Given the description of an element on the screen output the (x, y) to click on. 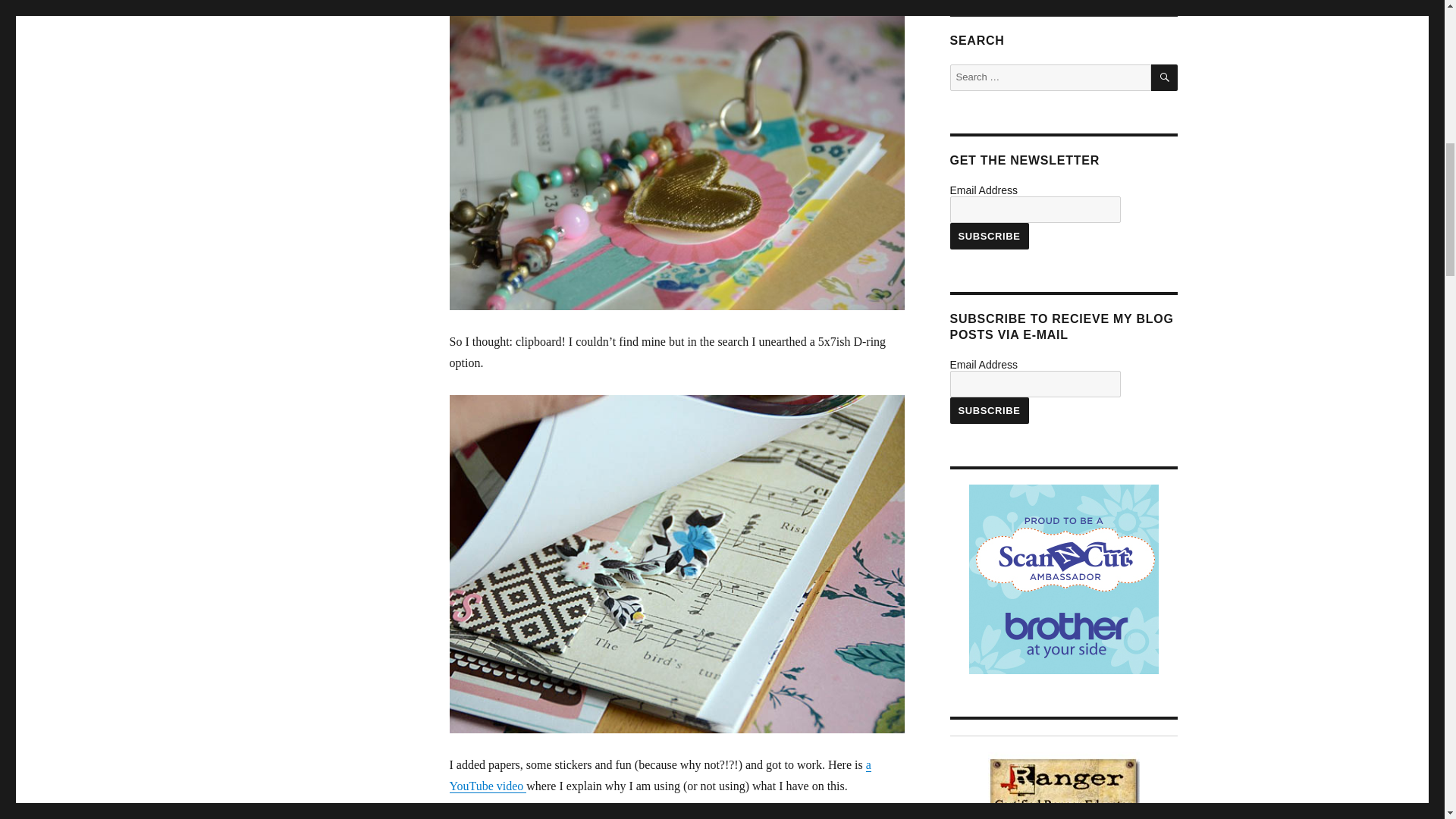
Subscribe (988, 235)
a YouTube video (659, 775)
Subscribe (988, 410)
Subscribe (988, 410)
Subscribe (988, 235)
SEARCH (1164, 77)
